Given the description of an element on the screen output the (x, y) to click on. 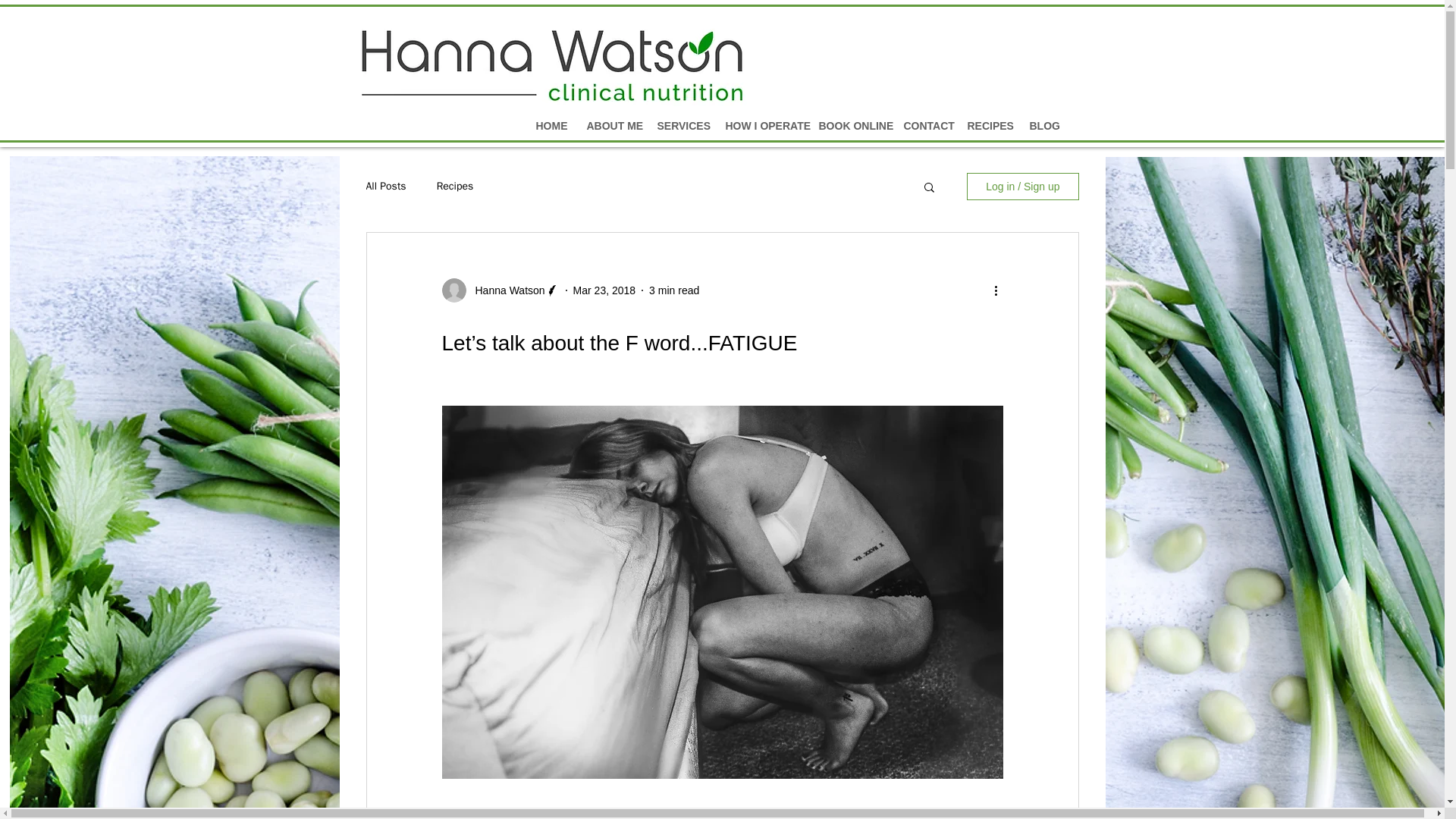
All Posts (385, 186)
HOW I OPERATE (761, 126)
CONTACT (923, 126)
ABOUT ME (610, 126)
BLOG (1041, 126)
3 min read (673, 289)
HOME (549, 126)
BOOK ONLINE (848, 126)
Hanna Watson (504, 289)
Recipes (455, 186)
